Given the description of an element on the screen output the (x, y) to click on. 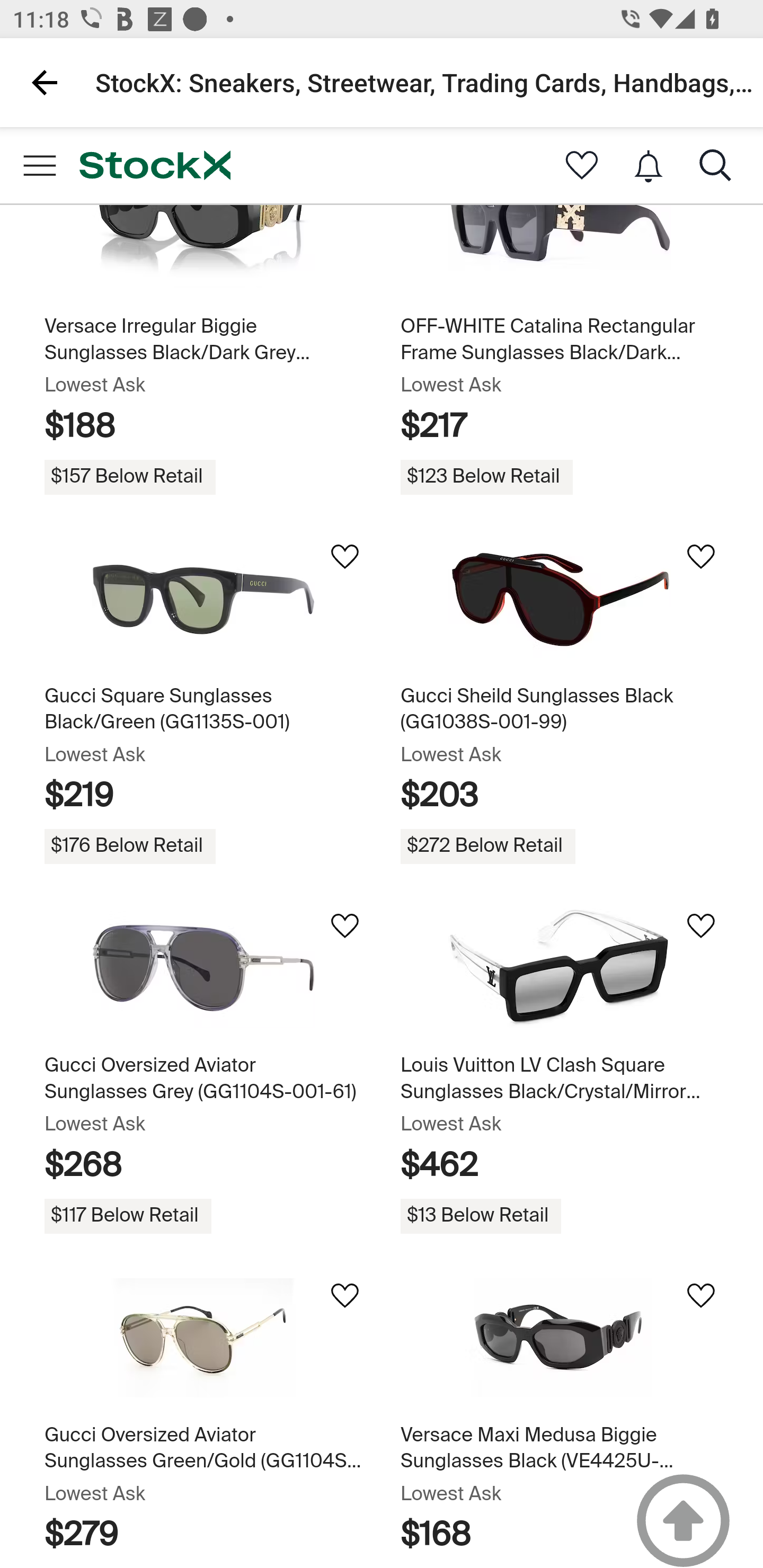
Navigate up (44, 82)
Toggle Navigation (39, 165)
StockX Logo (154, 166)
All Favorites (581, 165)
Notification Icon (648, 165)
Follow (344, 556)
Follow (700, 556)
Follow (344, 926)
Follow (700, 926)
Follow (344, 1295)
Follow (700, 1295)
